Given the description of an element on the screen output the (x, y) to click on. 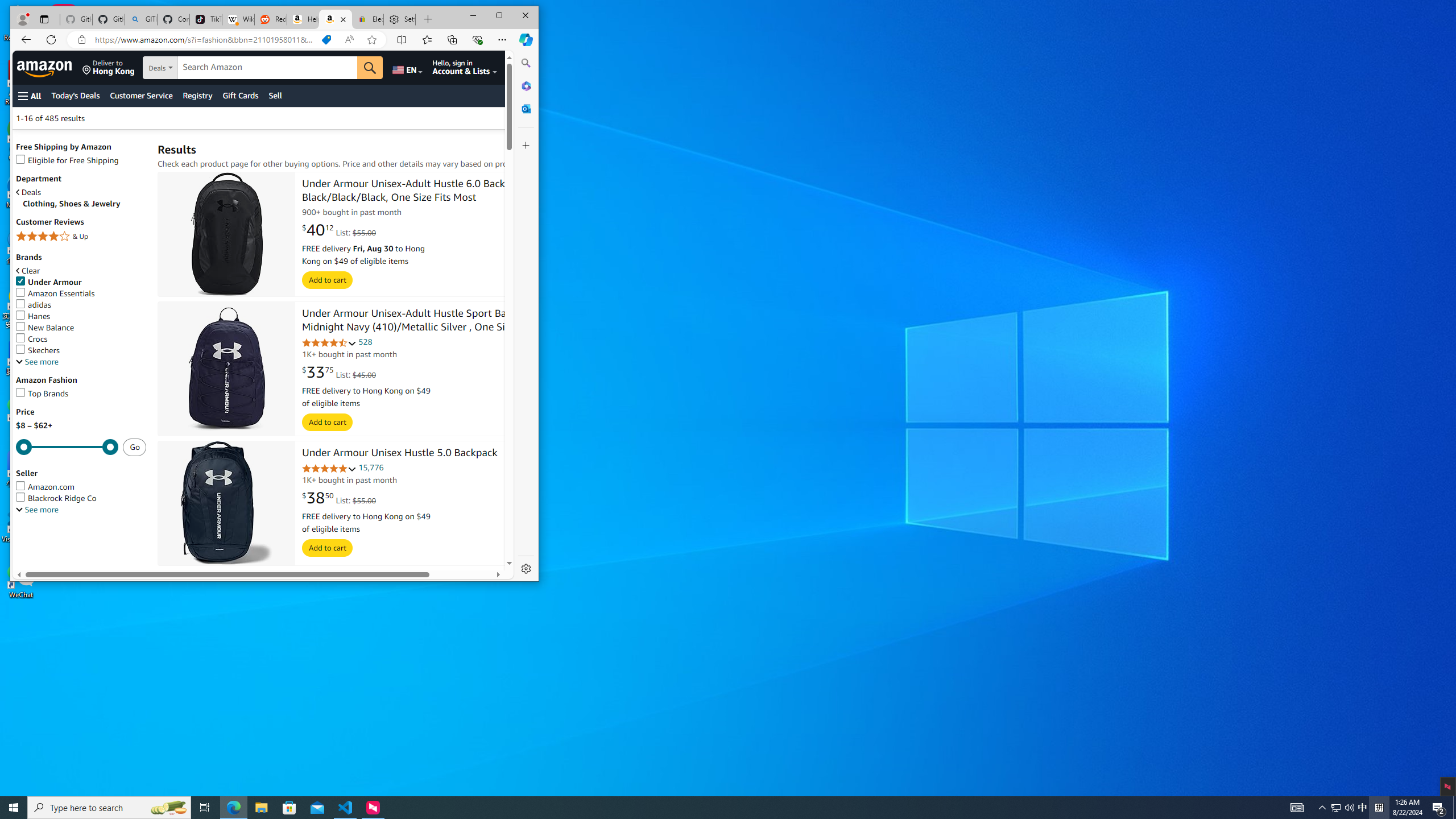
Visual Studio Code - 1 running window (345, 807)
Search highlights icon opens search home window (167, 807)
Clear (28, 270)
Hanes (80, 316)
Amazon Essentials (55, 292)
Blackrock Ridge Co (80, 498)
New Balance (45, 327)
Microsoft Edge - 1 running window (233, 807)
See more, Seller (37, 509)
